Given the description of an element on the screen output the (x, y) to click on. 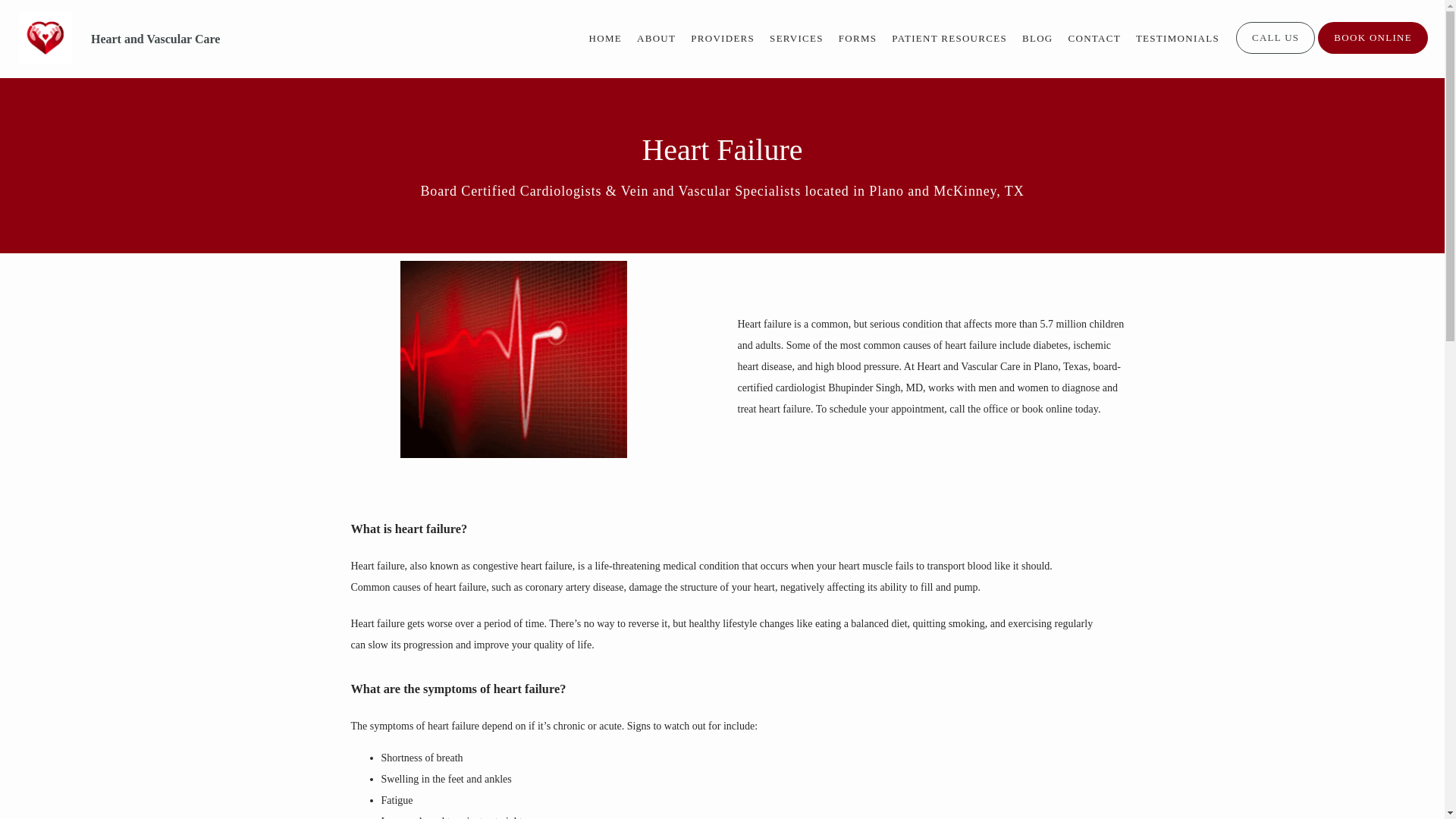
BOOK ONLINE (1372, 51)
SERVICES (797, 38)
CALL US (1275, 51)
ABOUT (656, 38)
PATIENT RESOURCES (949, 38)
BLOG (1037, 38)
Heart and Vascular Care (154, 39)
PROVIDERS (722, 38)
CONTACT (1093, 38)
TESTIMONIALS (1177, 38)
FORMS (857, 38)
HOME (605, 38)
